Given the description of an element on the screen output the (x, y) to click on. 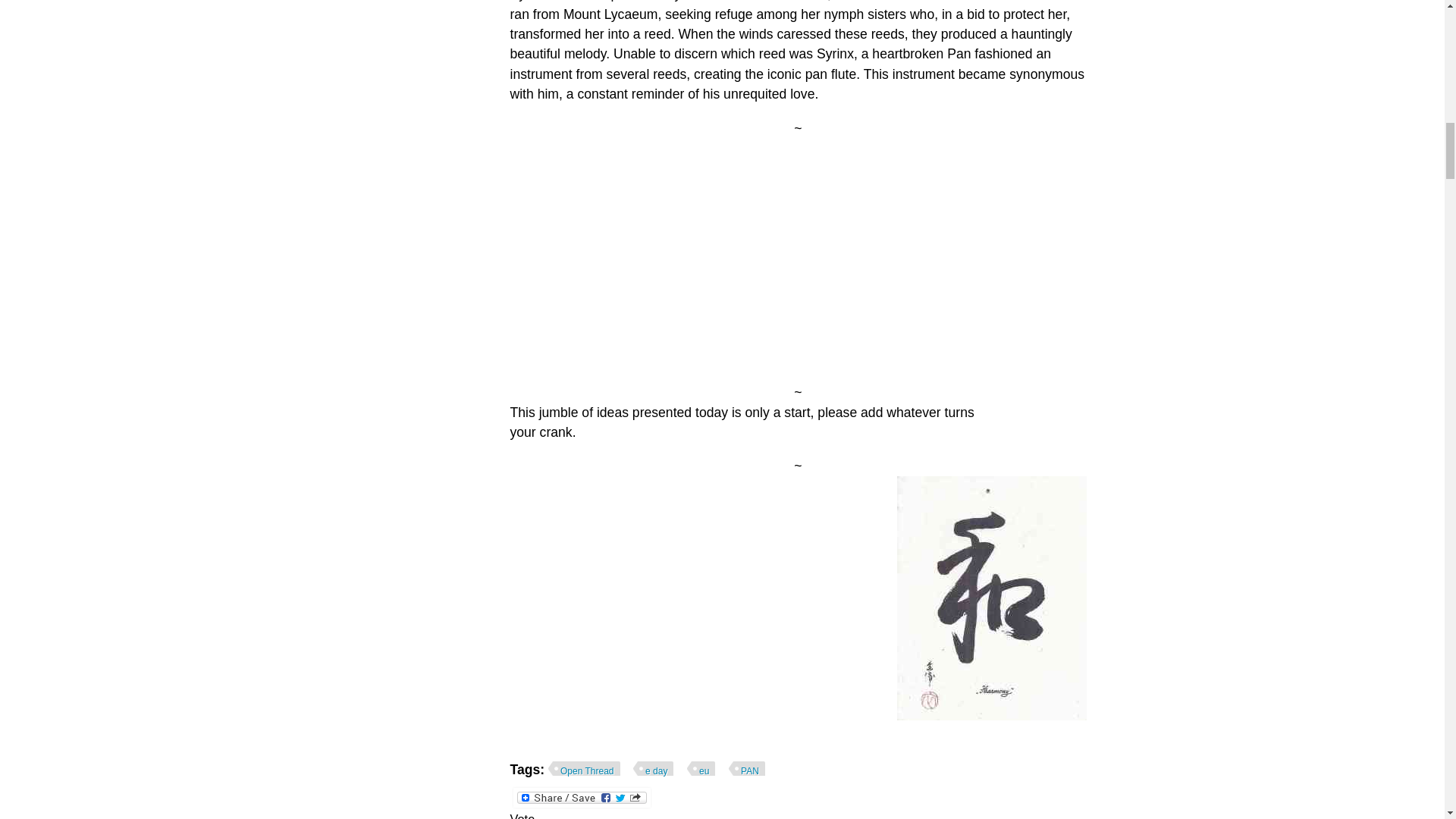
e day (652, 769)
eu (700, 769)
YouTube video player (721, 257)
PAN (747, 769)
Open Thread (584, 769)
